Given the description of an element on the screen output the (x, y) to click on. 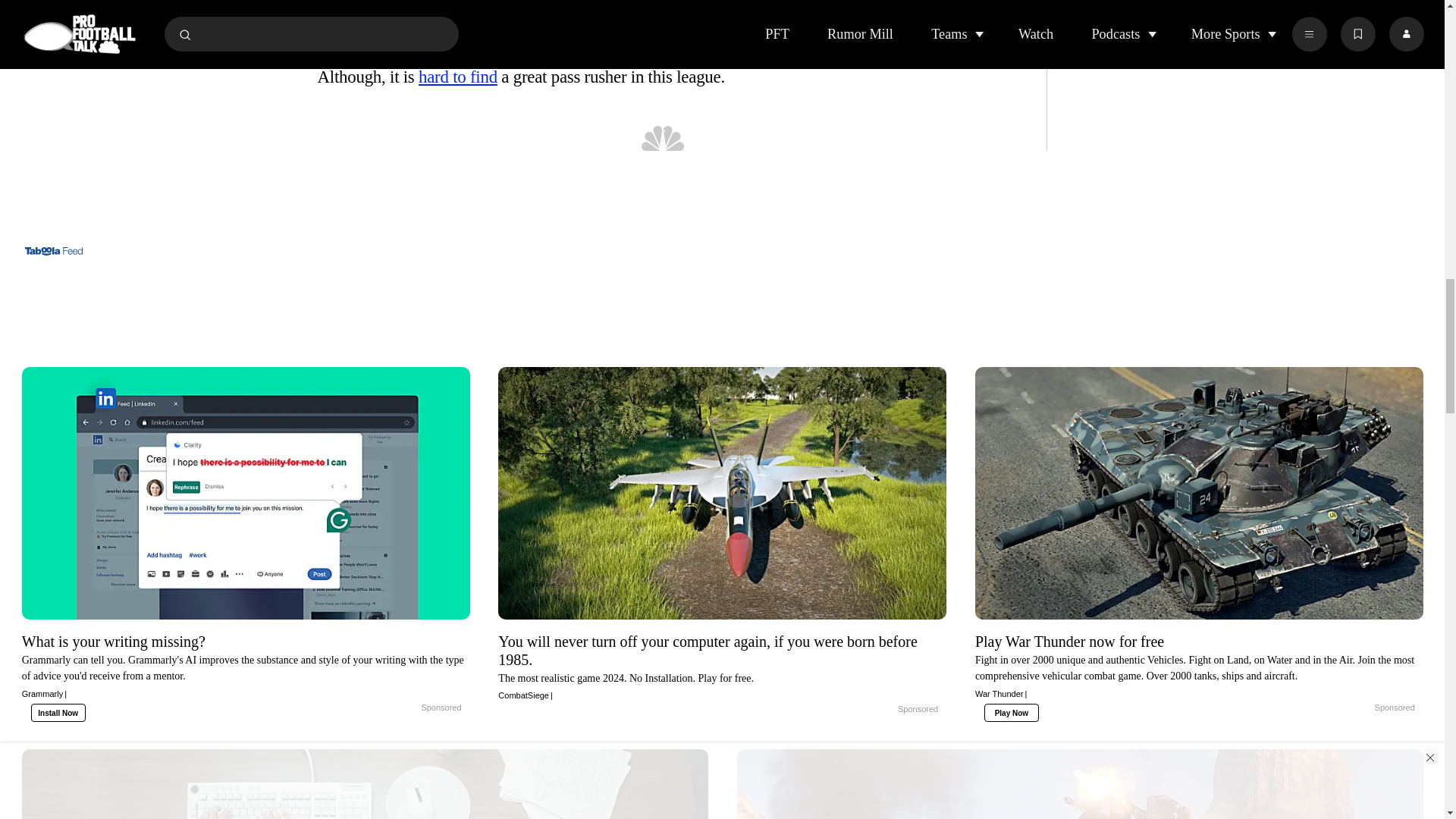
What is your writing missing? (245, 492)
What is your writing missing? (245, 665)
What is your writing missing? (404, 708)
